Given the description of an element on the screen output the (x, y) to click on. 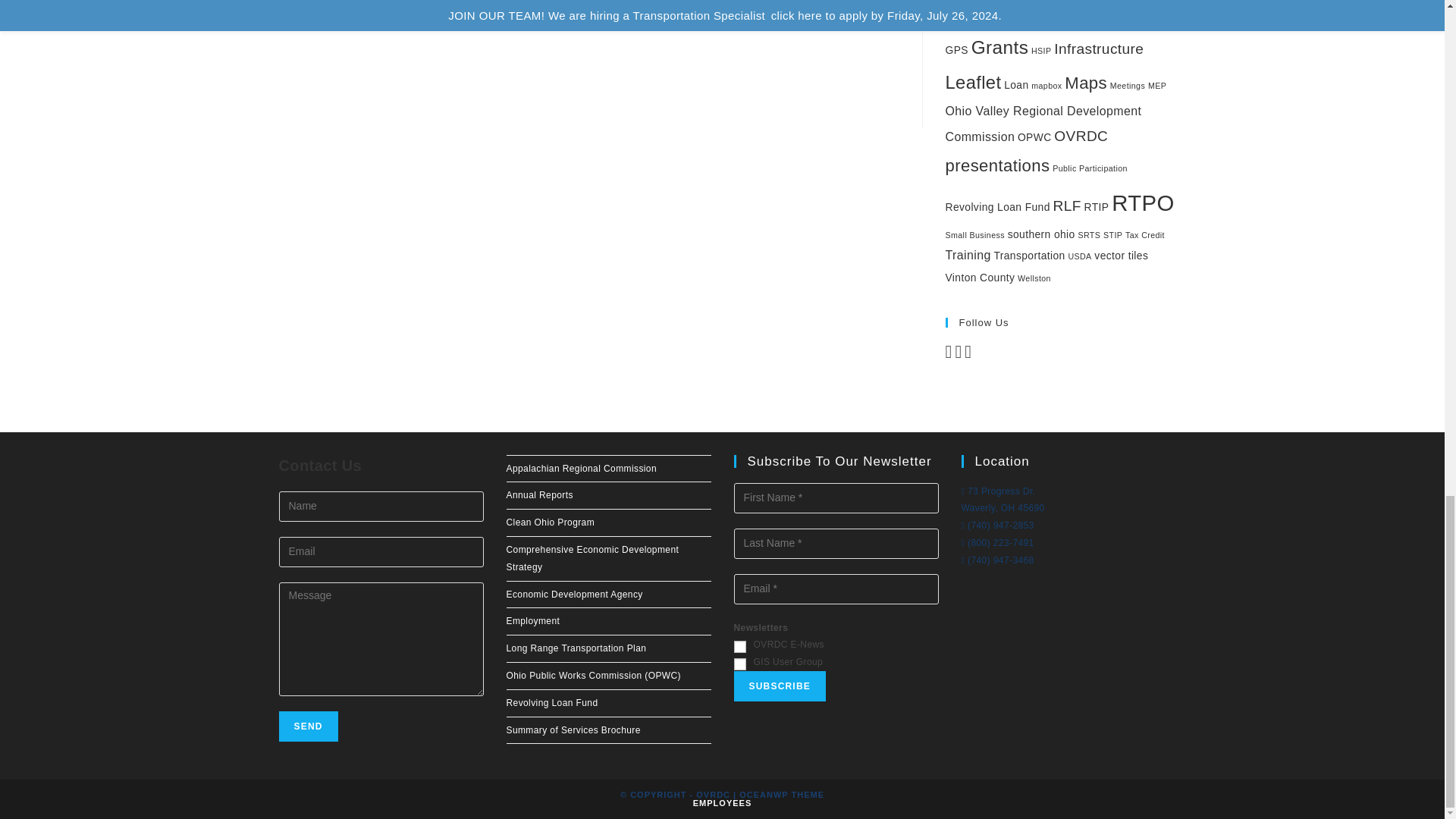
Subscribe (779, 685)
2 (739, 664)
Twitter (957, 354)
1 (739, 646)
RSS (967, 354)
Facebook (948, 354)
Send (308, 726)
